Given the description of an element on the screen output the (x, y) to click on. 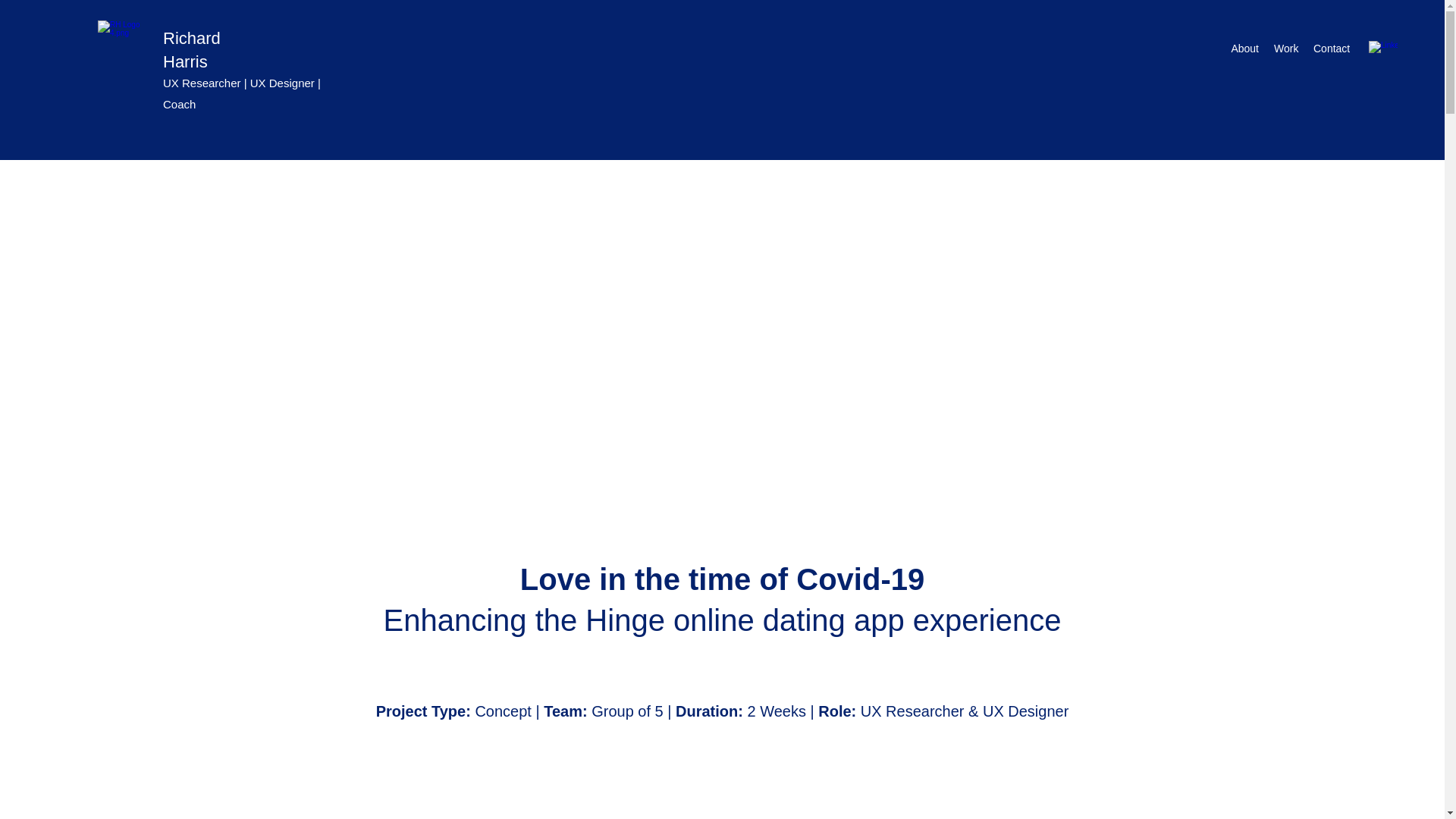
About (1244, 47)
Richard Harris (192, 49)
Work (1286, 47)
Contact (1331, 47)
